Given the description of an element on the screen output the (x, y) to click on. 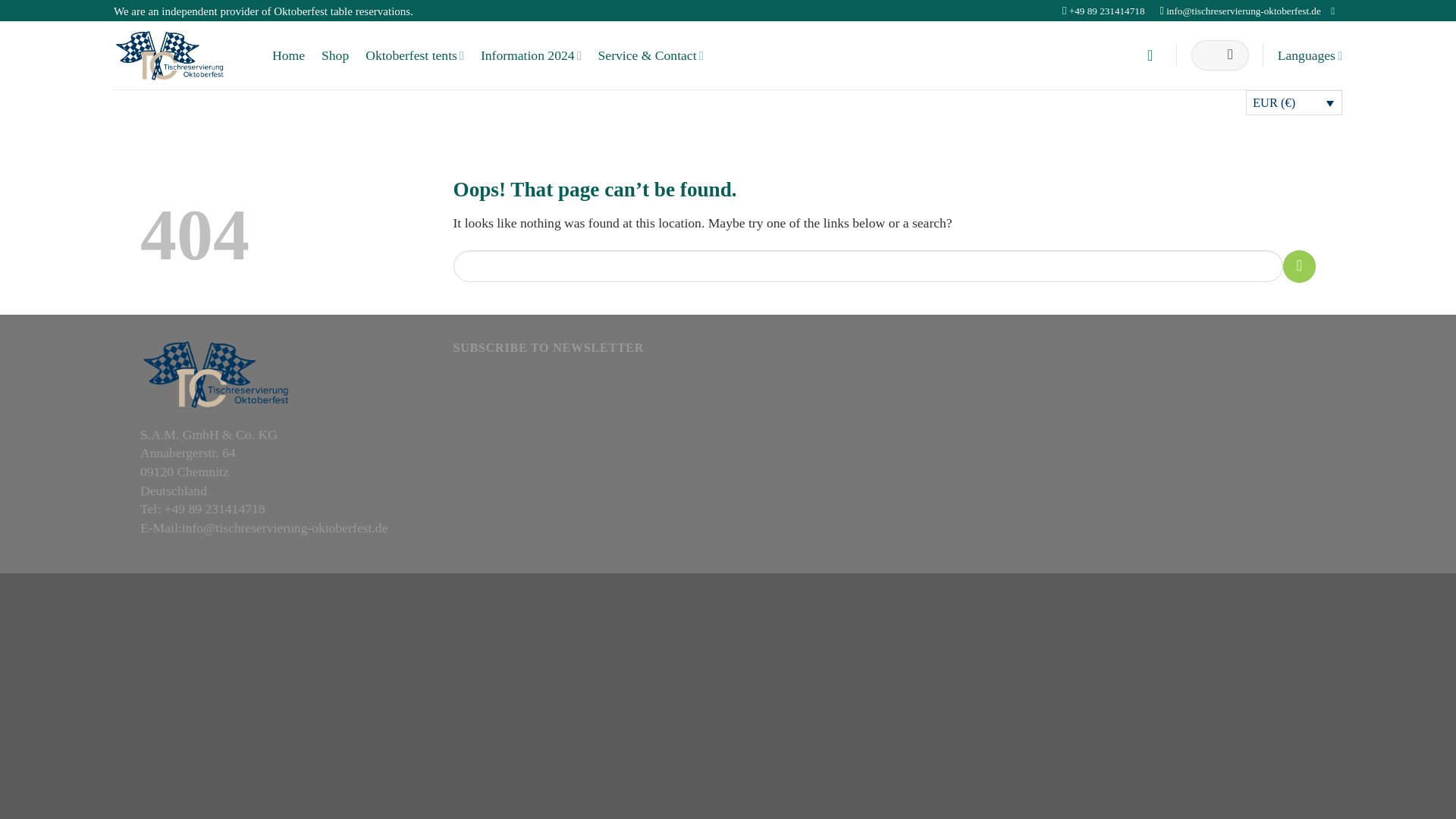
Oktoberfest tents (414, 55)
Information 2024 (530, 55)
Home (288, 54)
Shop (335, 54)
Oktoberfest table reservations (341, 10)
